Given the description of an element on the screen output the (x, y) to click on. 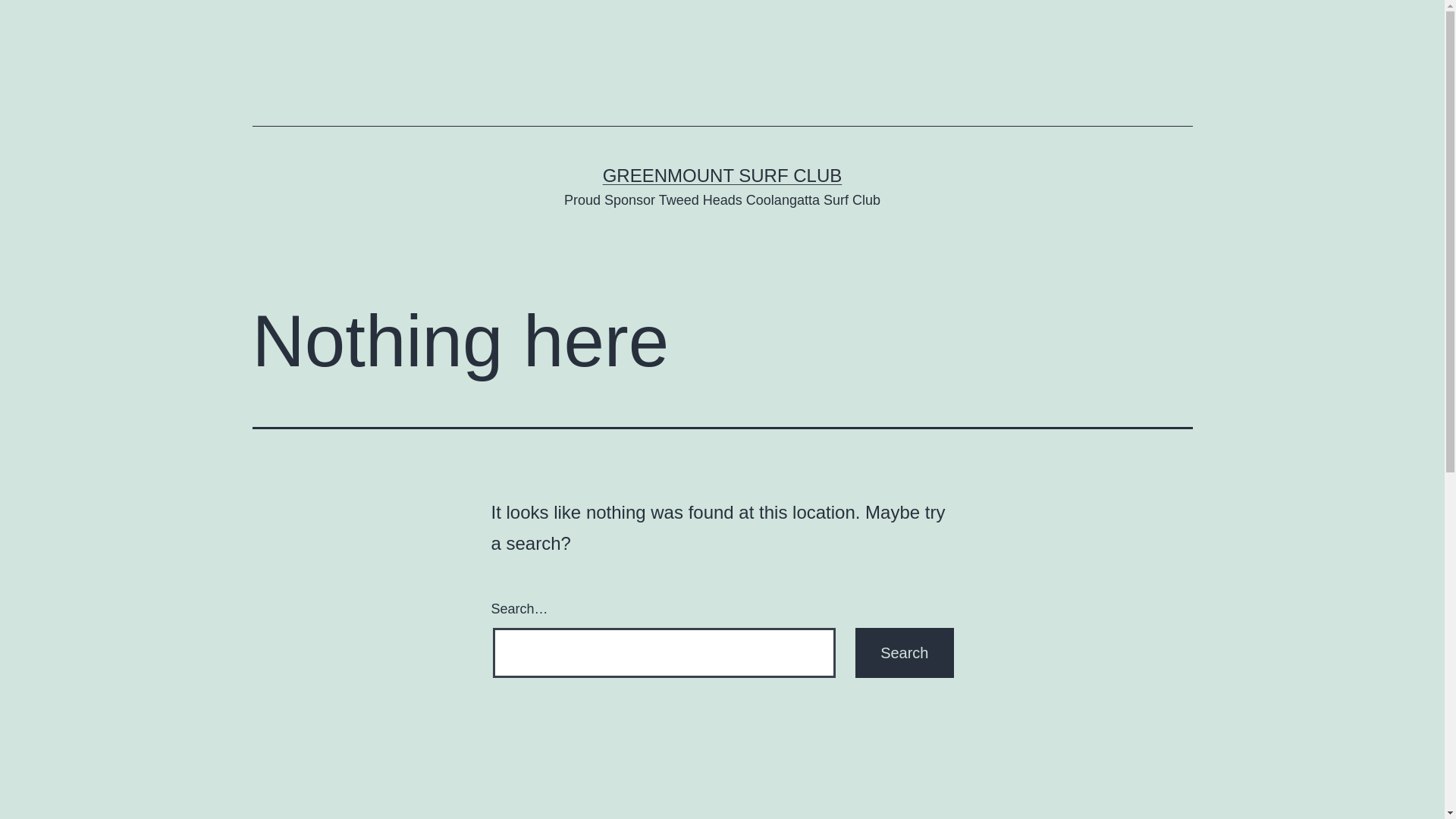
Search Element type: text (904, 652)
GREENMOUNT SURF CLUB Element type: text (722, 175)
